Given the description of an element on the screen output the (x, y) to click on. 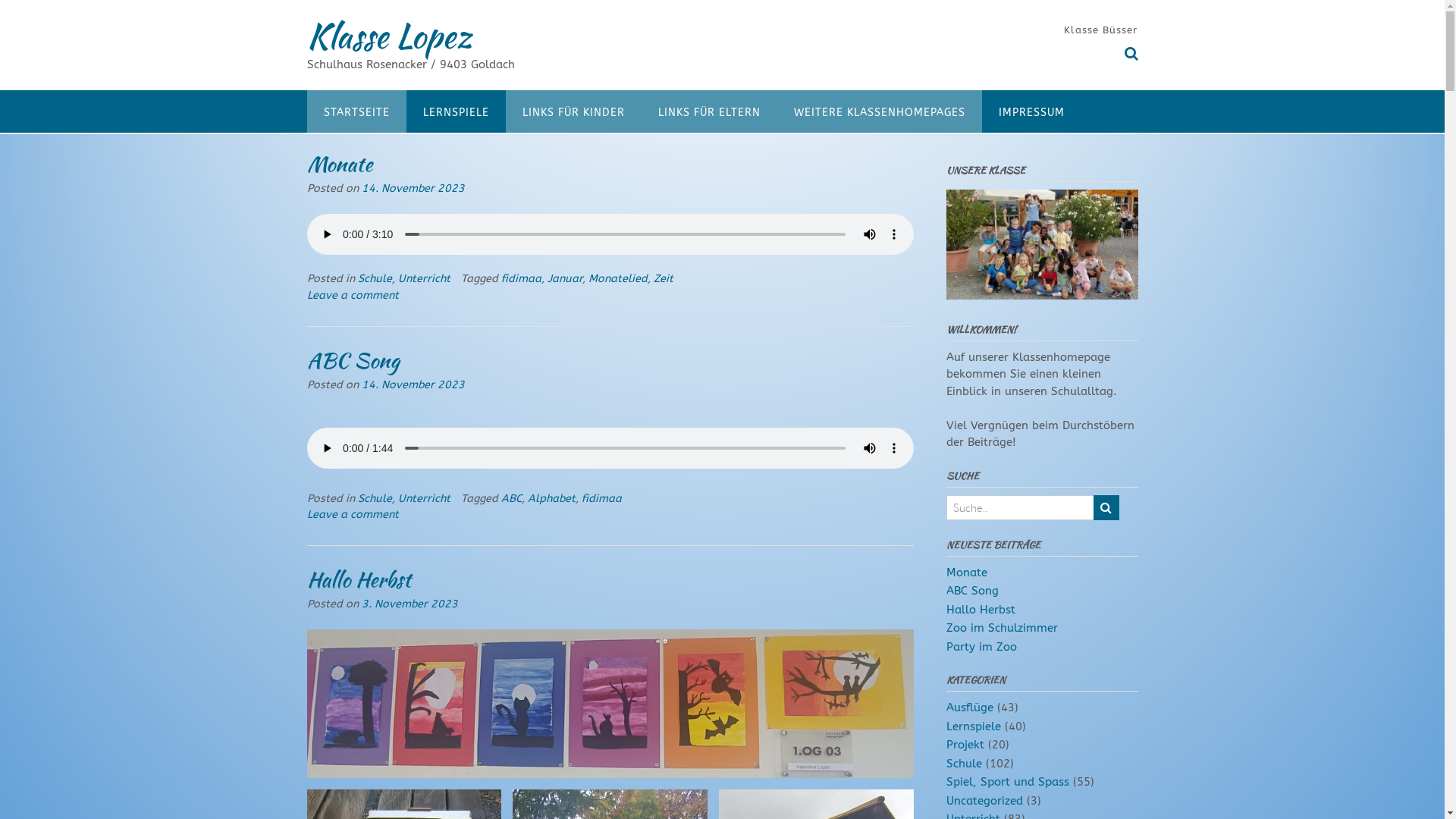
Leave a comment Element type: text (352, 514)
Unterricht Element type: text (423, 278)
Projekt Element type: text (965, 744)
WEITERE KLASSENHOMEPAGES Element type: text (878, 111)
14. November 2023 Element type: text (412, 384)
Klasse Lopez Element type: text (388, 35)
Zoo im Schulzimmer Element type: text (1001, 627)
Hallo Herbst Element type: text (358, 579)
ABC Song Element type: text (972, 590)
Party im Zoo Element type: text (981, 646)
fidimaa Element type: text (600, 497)
Leave a comment Element type: text (352, 294)
ABC Element type: text (510, 497)
14. November 2023 Element type: text (412, 188)
fidimaa Element type: text (520, 278)
Lernspiele Element type: text (973, 726)
Uncategorized Element type: text (984, 800)
Monate Element type: text (338, 163)
Schule Element type: text (374, 497)
IMPRESSUM Element type: text (1030, 111)
ABC Song Element type: text (352, 360)
Search for: Element type: hover (1019, 507)
3. November 2023 Element type: text (408, 603)
Zeit Element type: text (663, 278)
Alphabet Element type: text (551, 497)
Unterricht Element type: text (423, 497)
Monatelied Element type: text (617, 278)
Spiel, Sport und Spass Element type: text (1007, 781)
Schule Element type: text (964, 763)
Monate Element type: text (966, 572)
Januar Element type: text (564, 278)
Hallo Herbst Element type: text (980, 609)
STARTSEITE Element type: text (355, 111)
LERNSPIELE Element type: text (455, 111)
Schule Element type: text (374, 278)
